Given the description of an element on the screen output the (x, y) to click on. 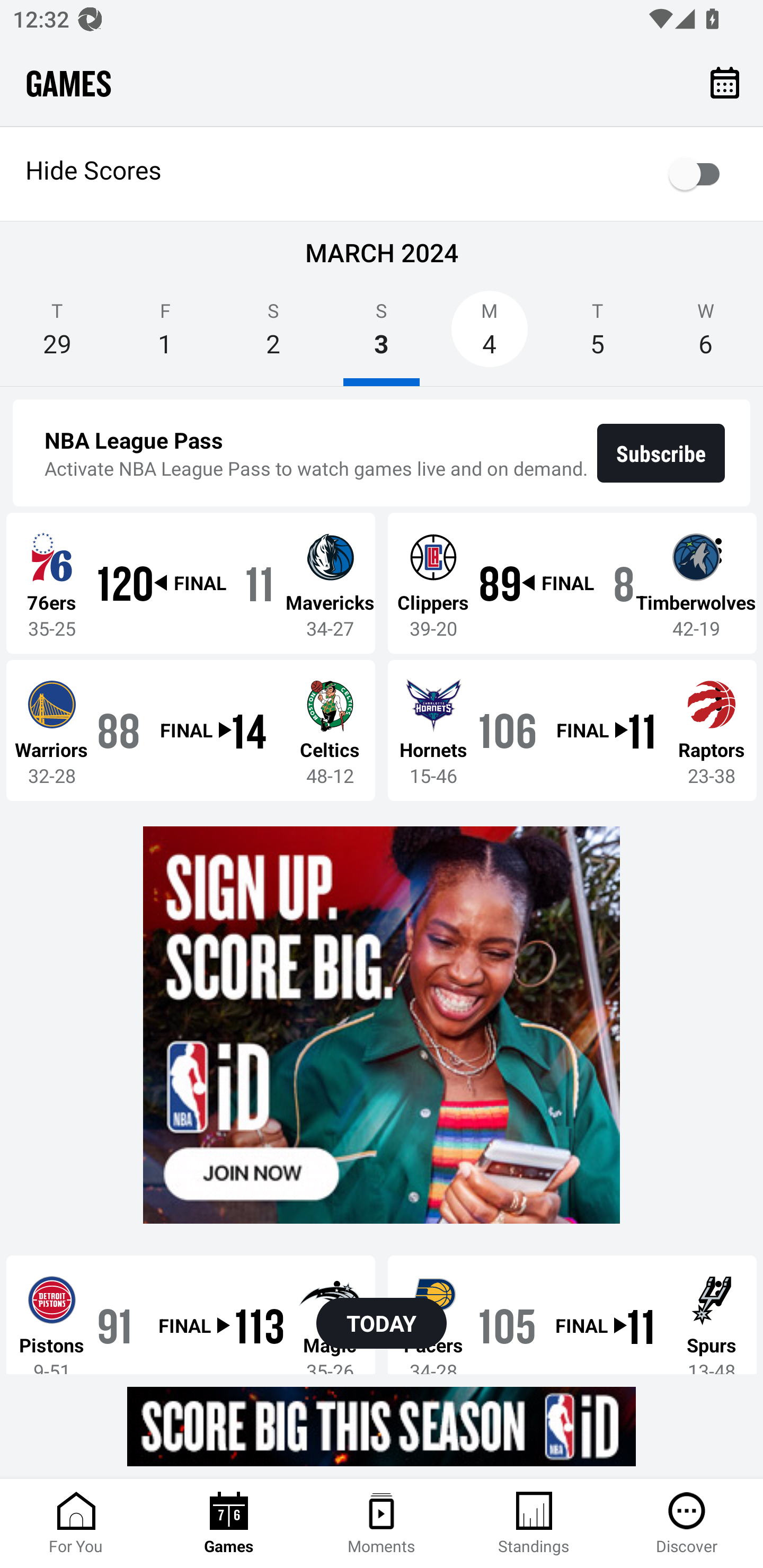
Calendar (724, 81)
Hide Scores (381, 174)
T 29 (57, 334)
F 1 (165, 334)
S 2 (273, 334)
S 3 (381, 334)
M 4 (489, 334)
T 5 (597, 334)
W 6 (705, 334)
Subscribe (660, 452)
TODAY (381, 1323)
For You (76, 1523)
Moments (381, 1523)
Standings (533, 1523)
Discover (686, 1523)
